Given the description of an element on the screen output the (x, y) to click on. 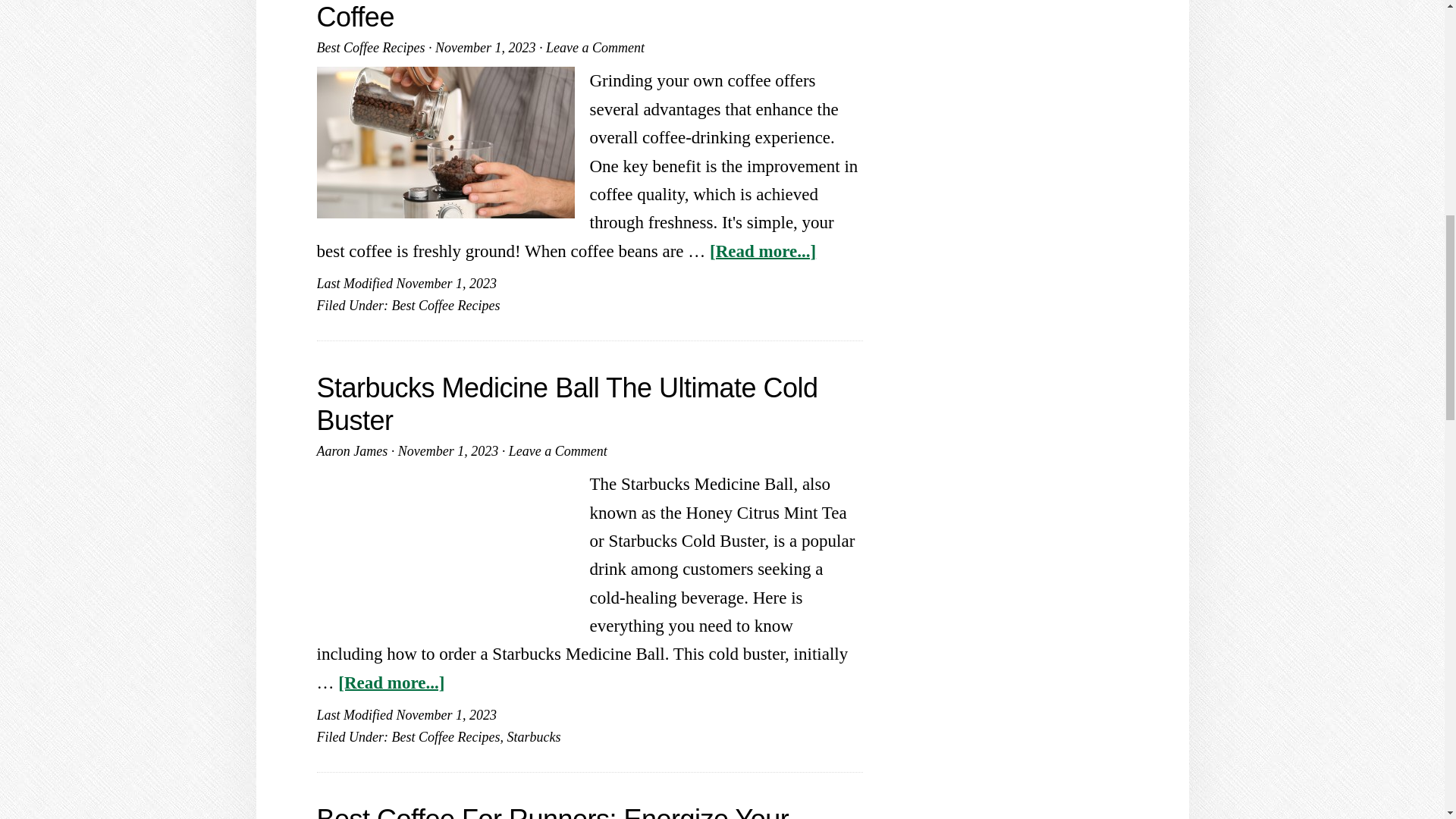
Best Coffee For Runners: Energize Your Morning Runs (553, 811)
Starbucks Medicine Ball The Ultimate Cold Buster (567, 402)
Leave a Comment (557, 450)
Aaron James (352, 450)
Best Coffee Recipes (371, 47)
Best Coffee Recipes (445, 736)
6 Amazing Benefits of Grinding Your Own Coffee (560, 16)
Best Coffee Recipes (445, 305)
Starbucks (533, 736)
Leave a Comment (595, 47)
